Given the description of an element on the screen output the (x, y) to click on. 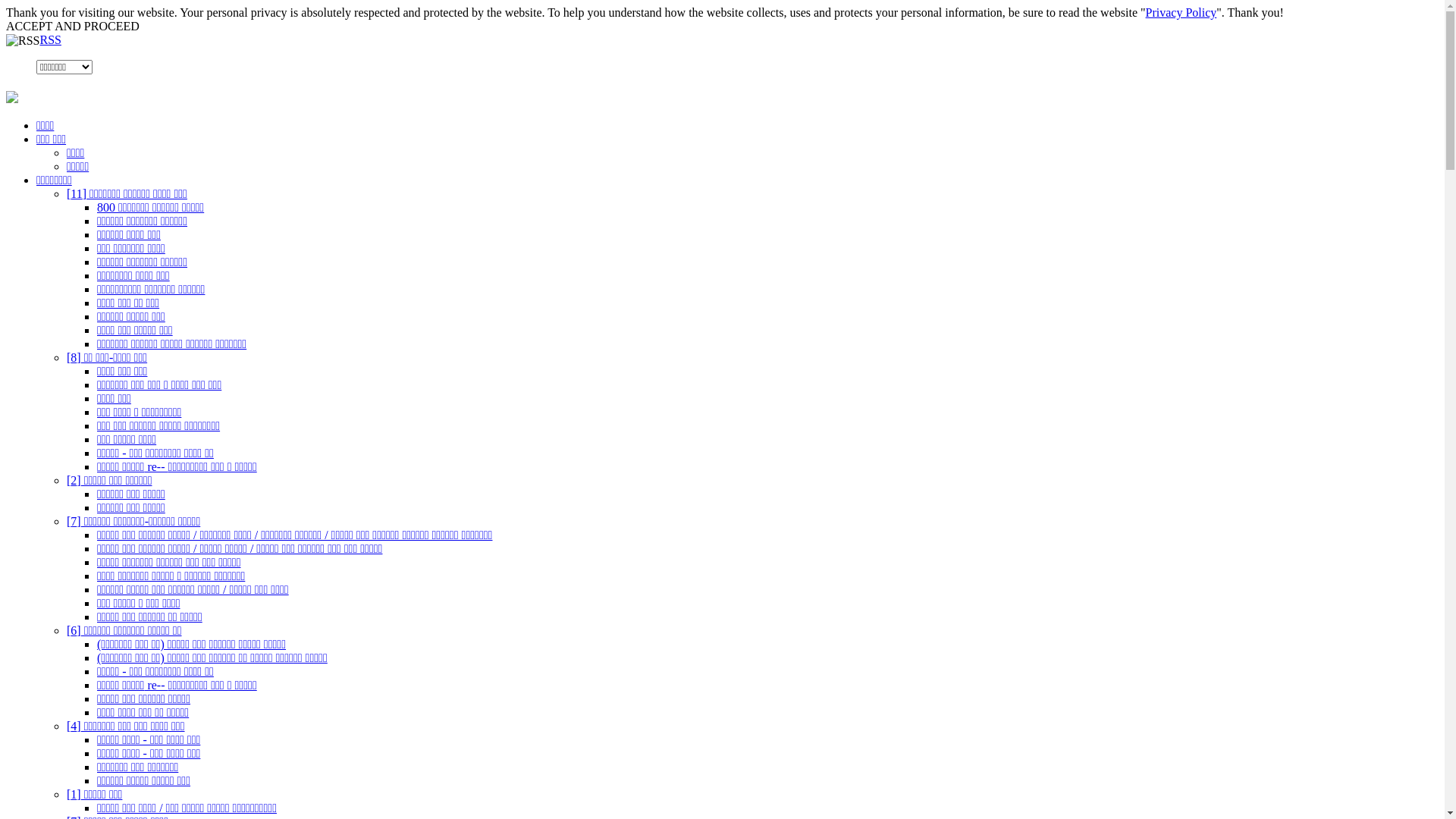
Privacy Policy Element type: text (1181, 12)
RSS Element type: text (49, 39)
